Given the description of an element on the screen output the (x, y) to click on. 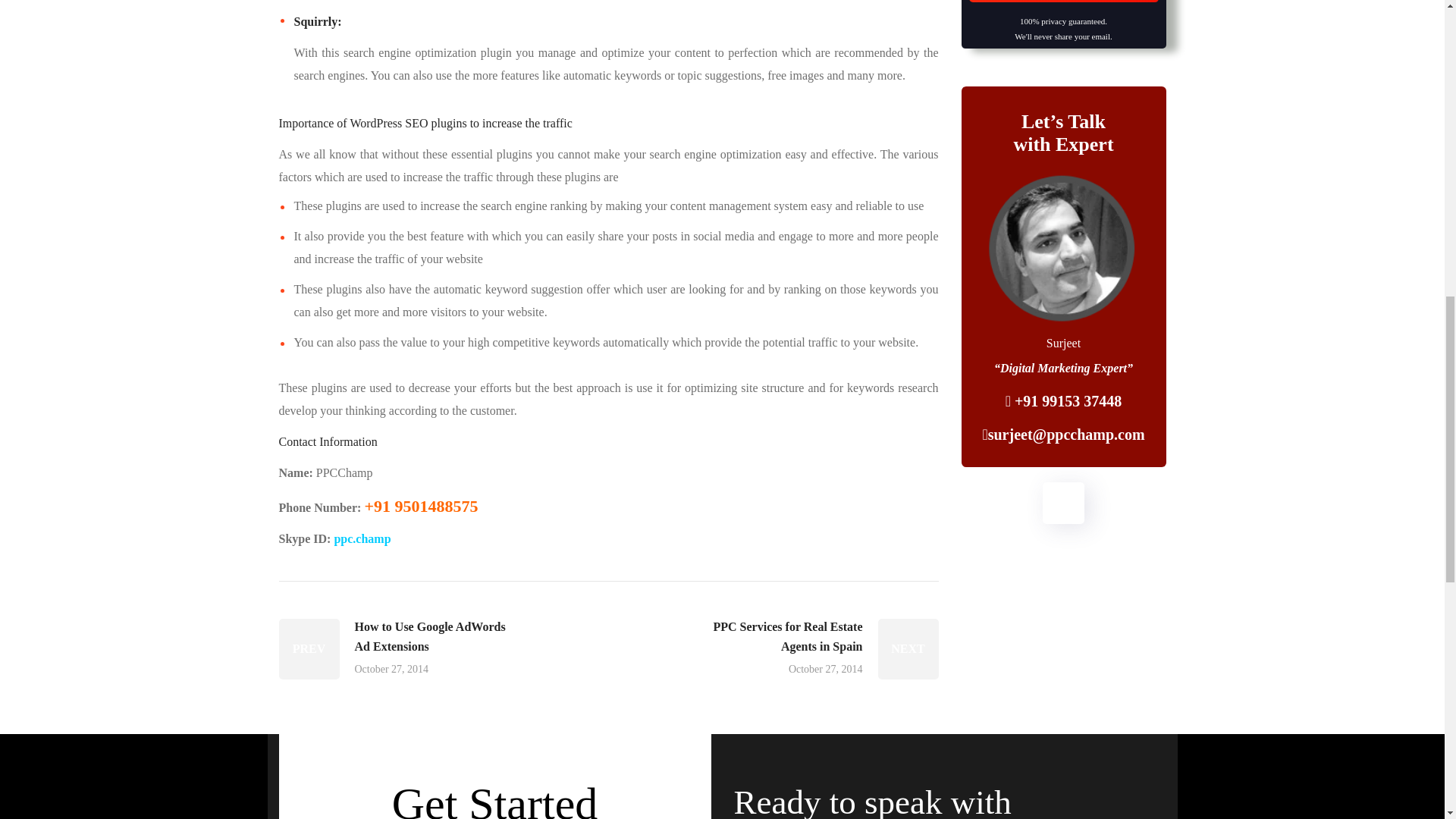
PPC Services for Real Estate Agents in Spain (821, 648)
Submit Request (1063, 1)
Submit Request (1063, 1)
How to Use Google AdWords Ad Extensions (396, 648)
